Given the description of an element on the screen output the (x, y) to click on. 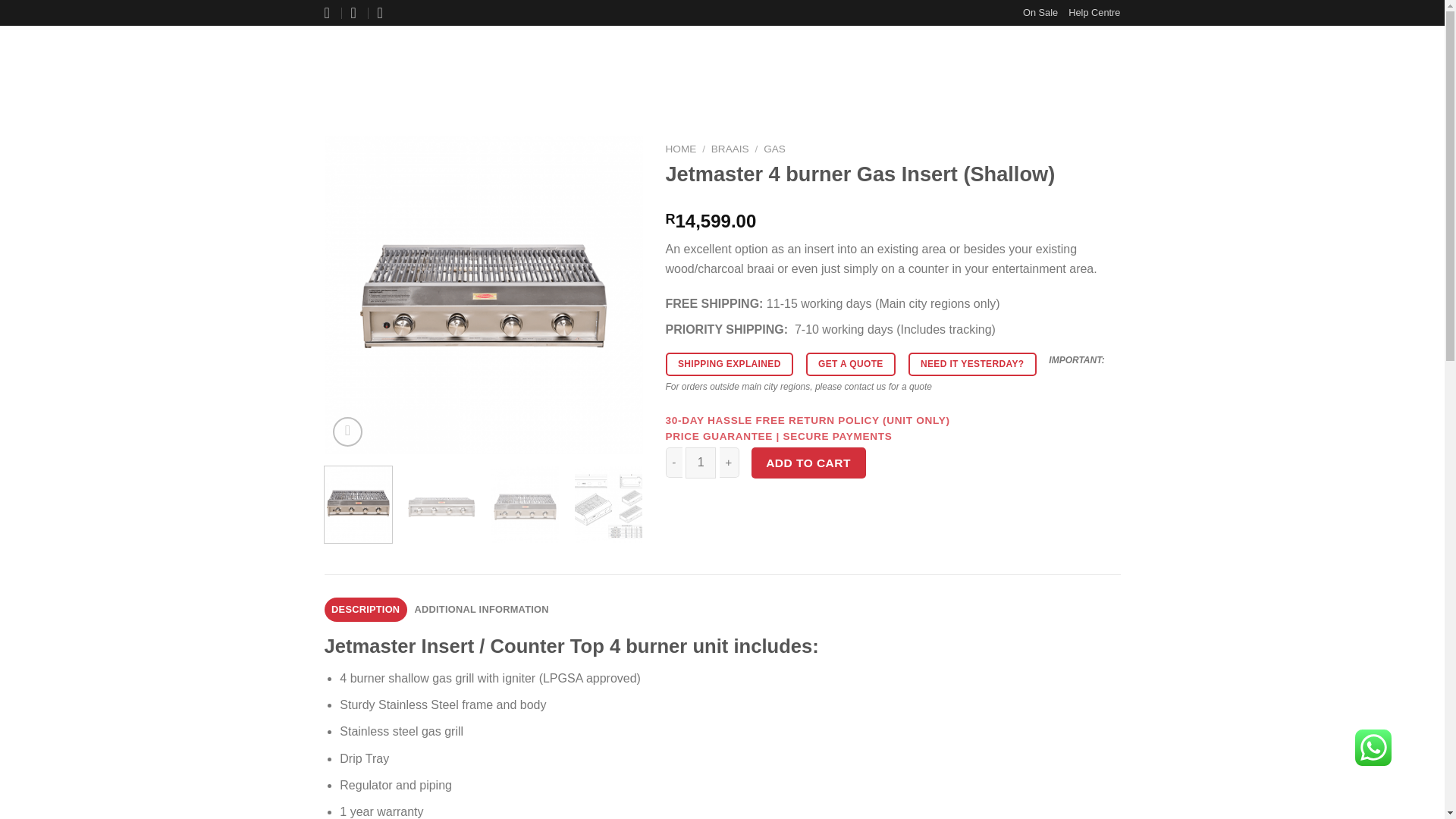
Cart (1097, 64)
1 (700, 462)
SHOP ALL (527, 65)
Login (1043, 64)
Help Centre (1093, 12)
Braai Culture - The Home Of BRAAI (400, 65)
Zoom (347, 431)
On Sale (1040, 12)
